Given the description of an element on the screen output the (x, y) to click on. 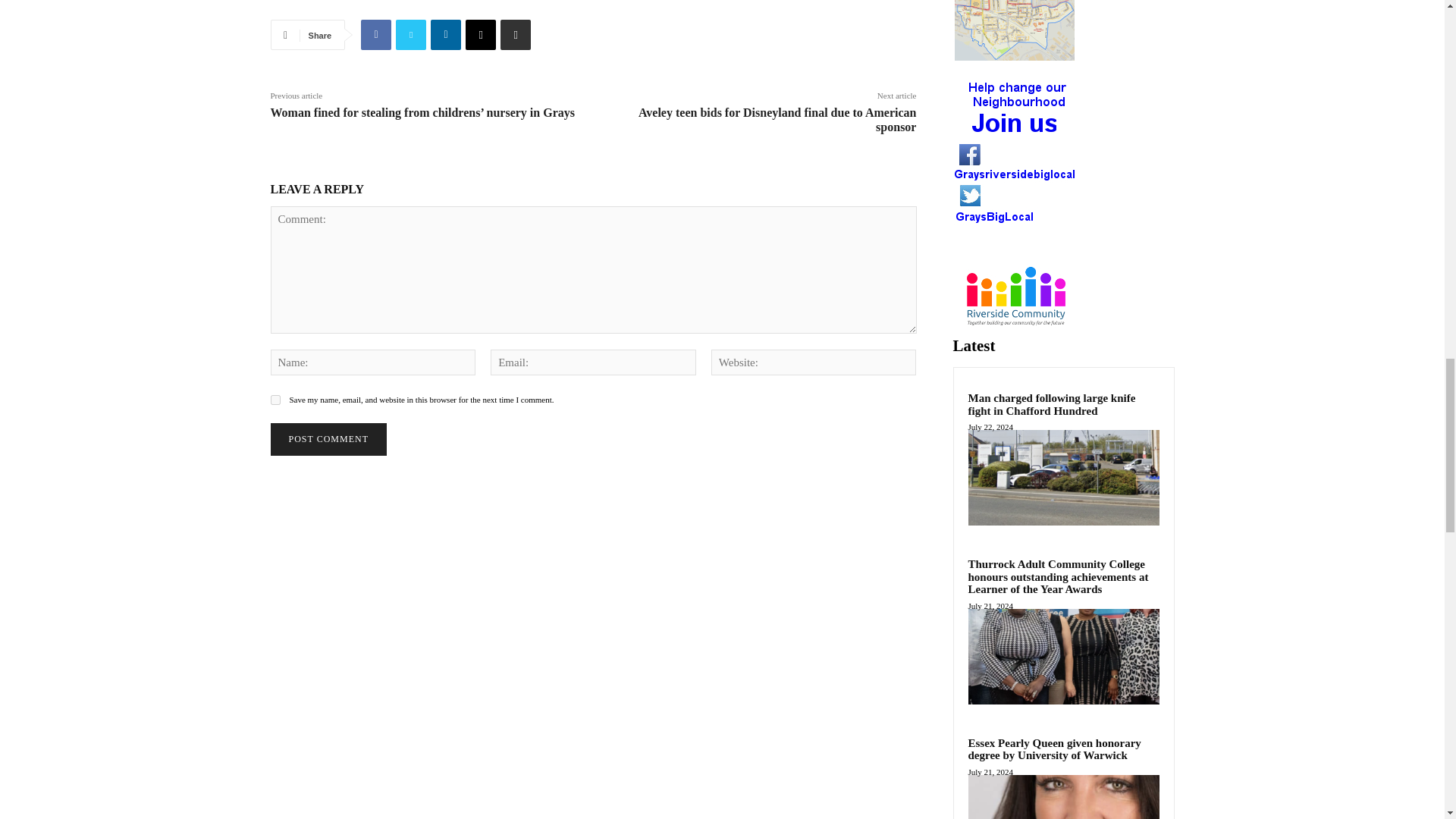
Facebook (376, 34)
Post Comment (327, 439)
yes (274, 399)
Twitter (411, 34)
Print (515, 34)
Email (480, 34)
Linkedin (445, 34)
